Given the description of an element on the screen output the (x, y) to click on. 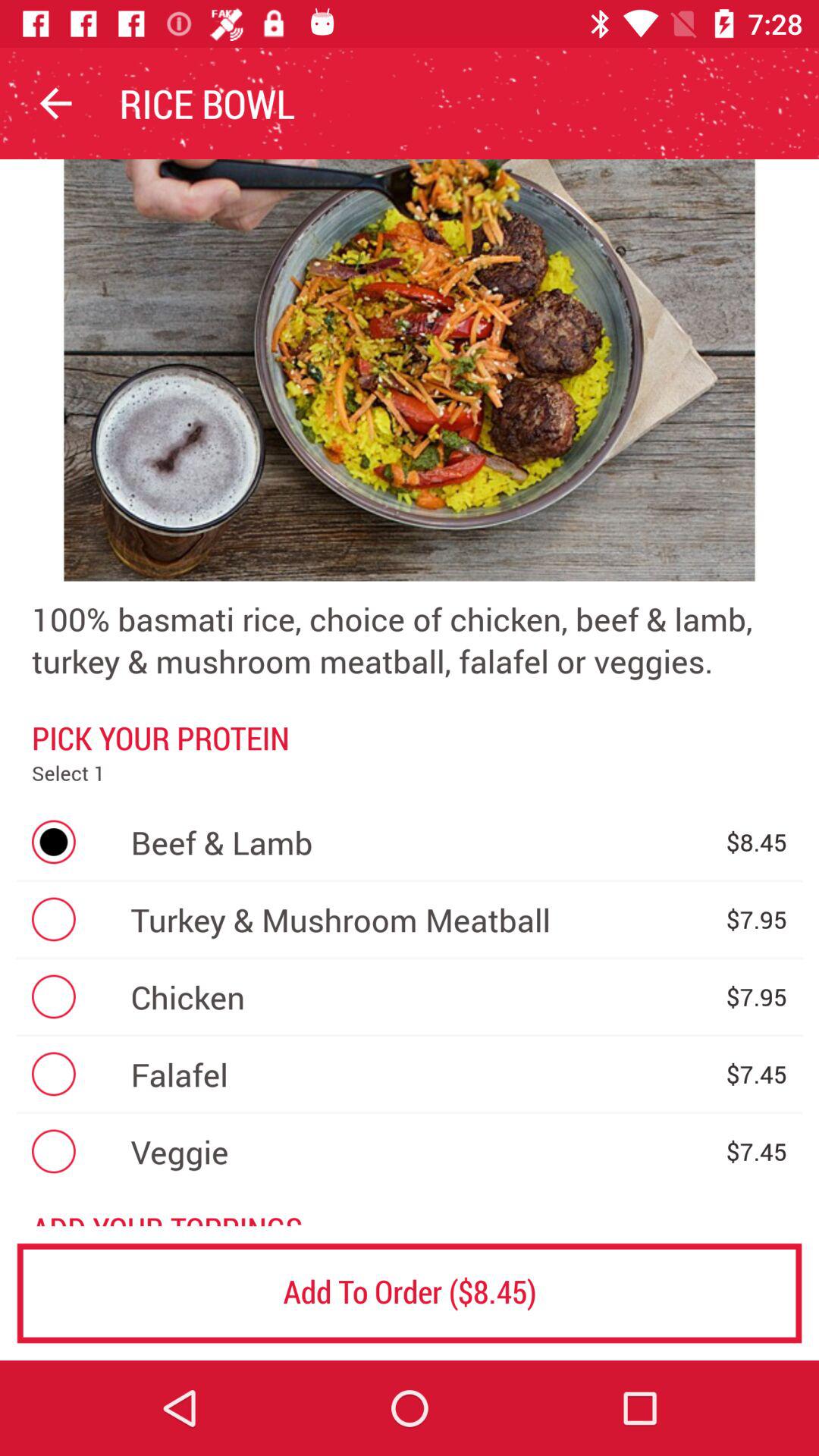
click the add to order (409, 1293)
